Given the description of an element on the screen output the (x, y) to click on. 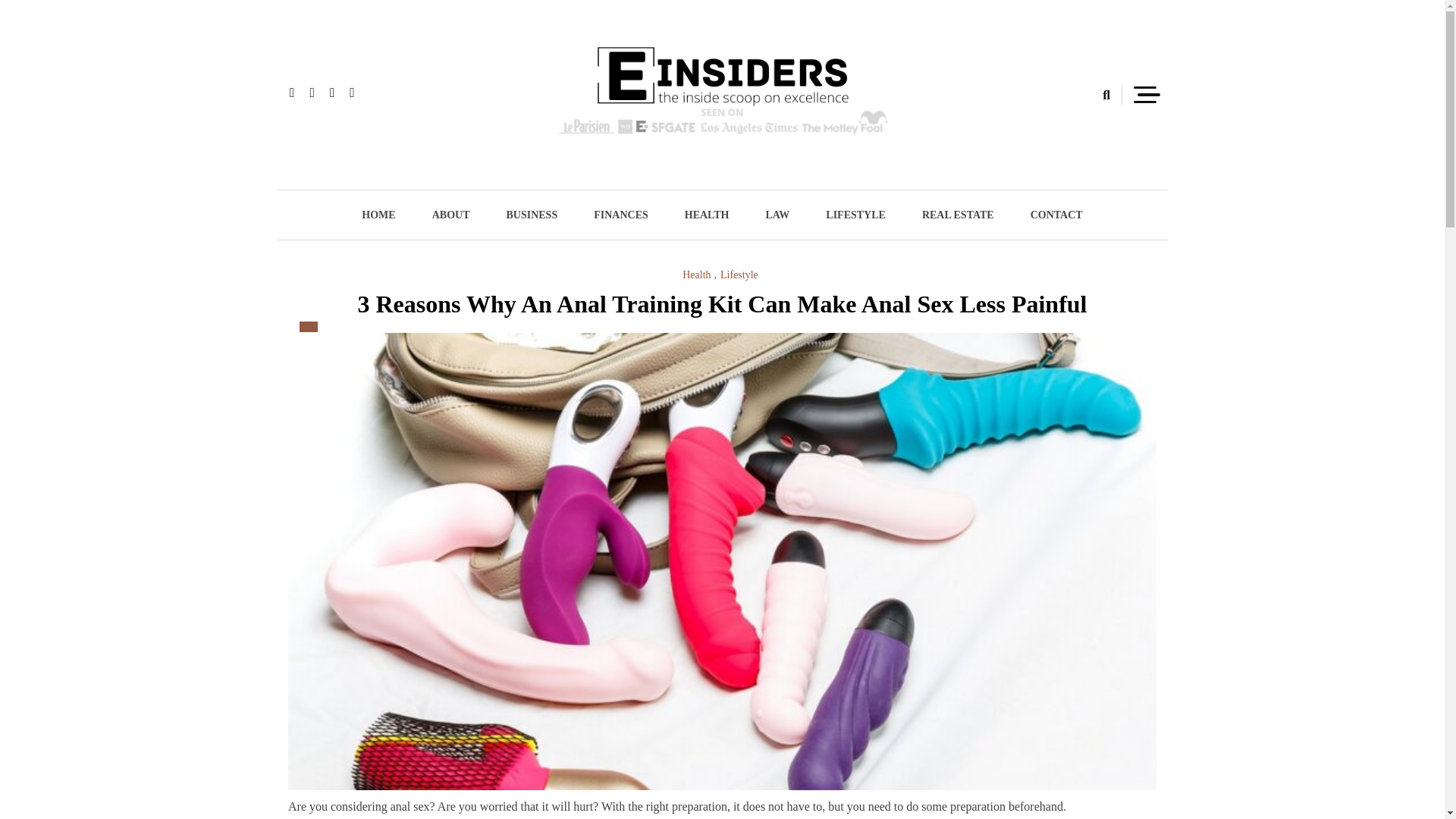
Lifestyle (739, 274)
ABOUT (450, 214)
FINANCES (620, 214)
Health (699, 274)
LAW (777, 214)
einsiders (474, 177)
CONTACT (1055, 214)
REAL ESTATE (957, 214)
BUSINESS (531, 214)
HOME (378, 214)
LIFESTYLE (856, 214)
HEALTH (707, 214)
